Given the description of an element on the screen output the (x, y) to click on. 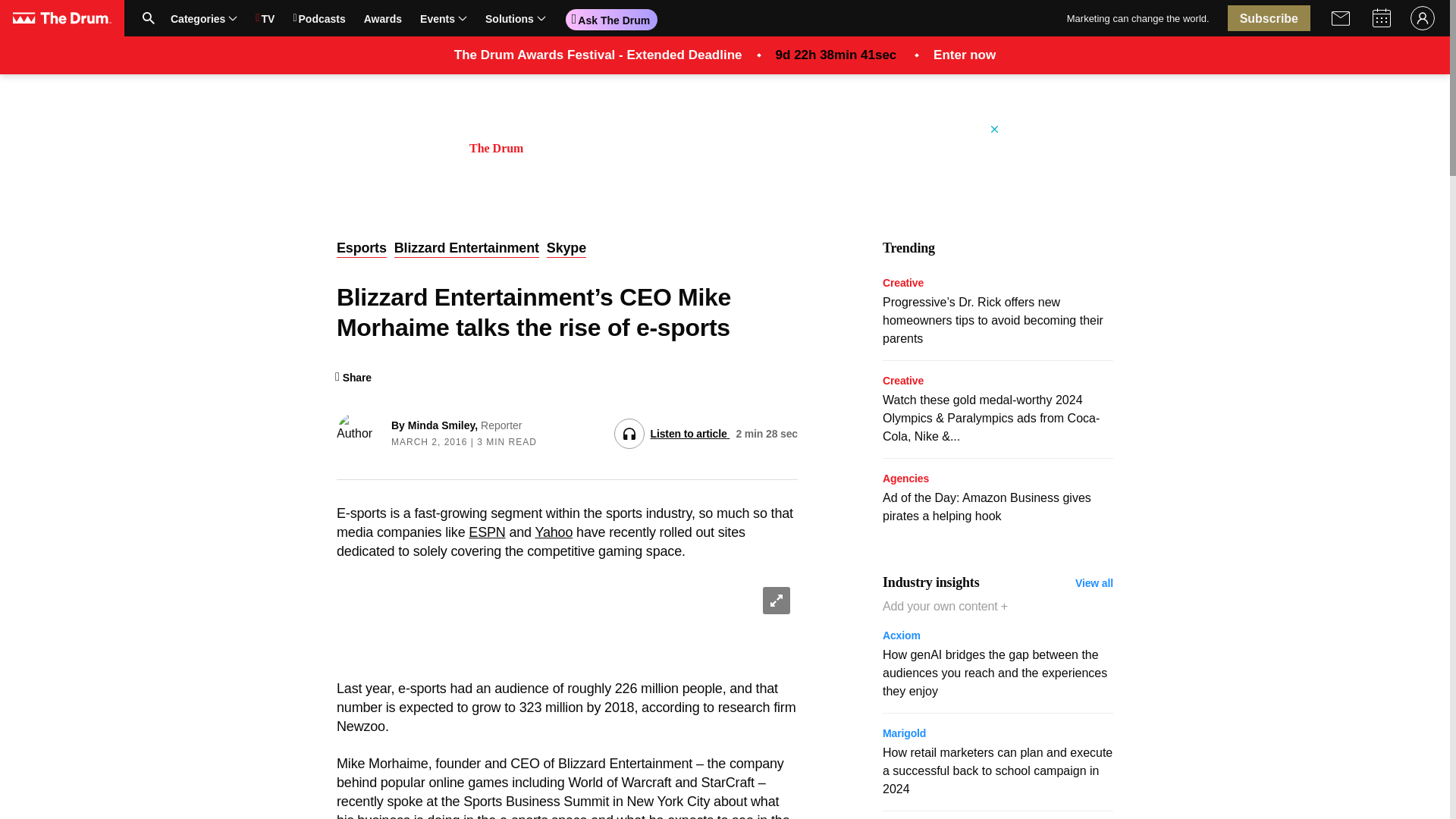
3rd party ad content (724, 156)
Categories (409, 18)
